Given the description of an element on the screen output the (x, y) to click on. 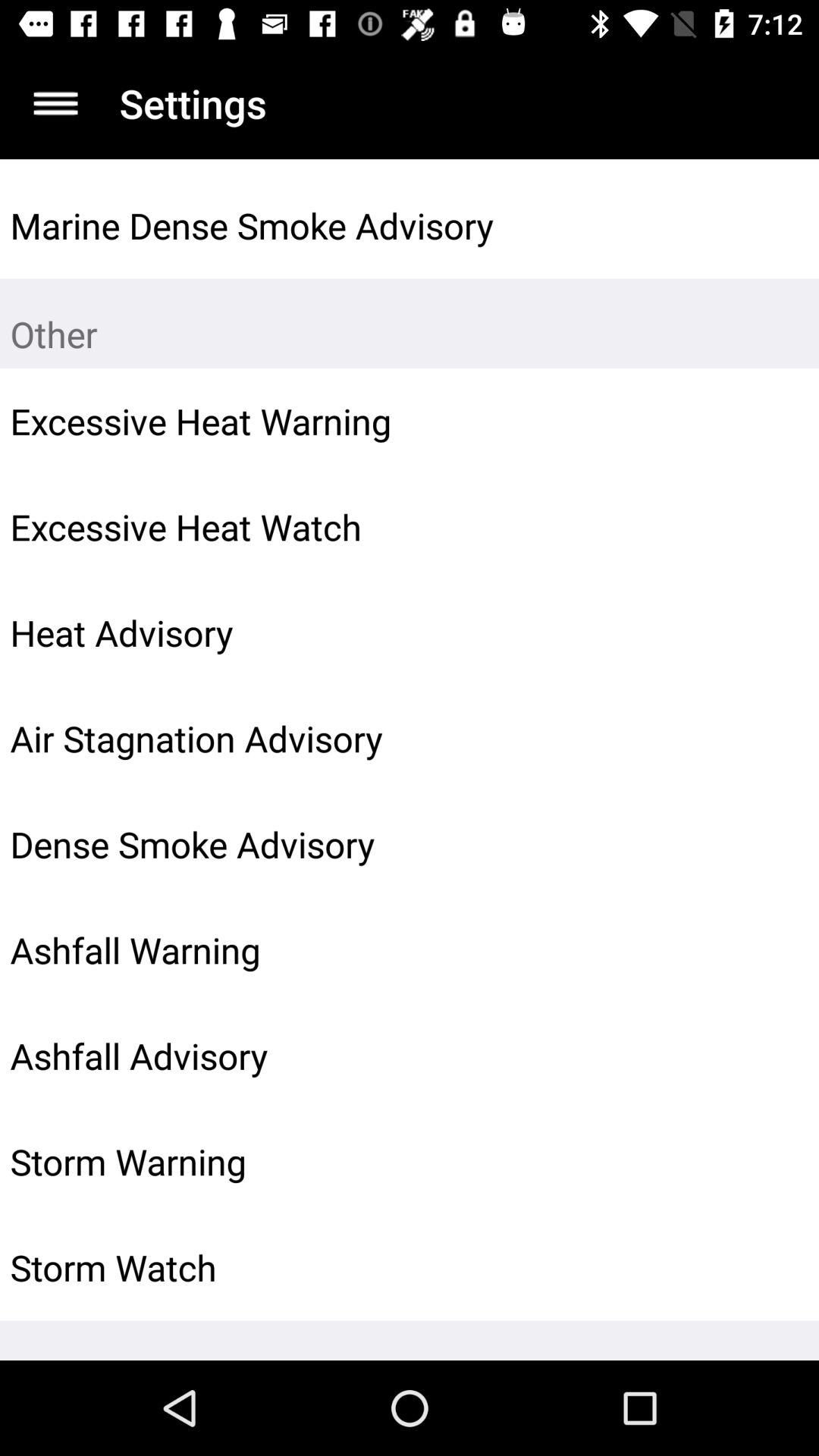
turn off the item next to storm watch icon (771, 1267)
